Given the description of an element on the screen output the (x, y) to click on. 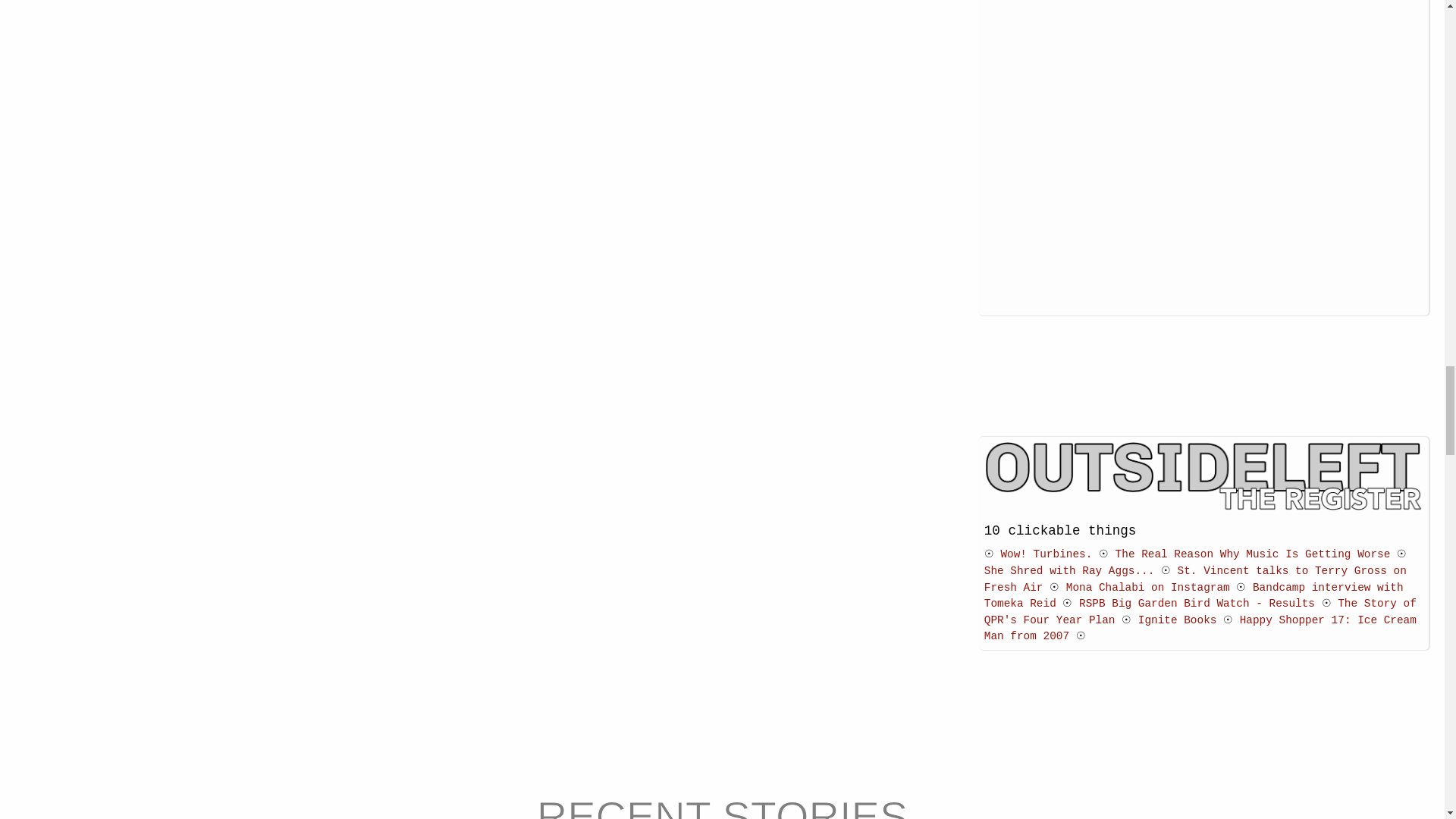
Mona Chalabi on Instagram (1147, 587)
Wow! Turbines. (1046, 553)
The Story of QPR's Four Year Plan (1200, 611)
RSPB Big Garden Bird Watch - Results (1196, 603)
St. Vincent talks to Terry Gross on Fresh Air (1195, 579)
Bandcamp interview with Tomeka Reid (1193, 595)
Ignite Books (1177, 620)
She Shred with Ray Aggs... (1069, 571)
Happy Shopper 17: Ice Cream Man from 2007 (1200, 628)
The Real Reason Why Music Is Getting Worse (1252, 553)
